Given the description of an element on the screen output the (x, y) to click on. 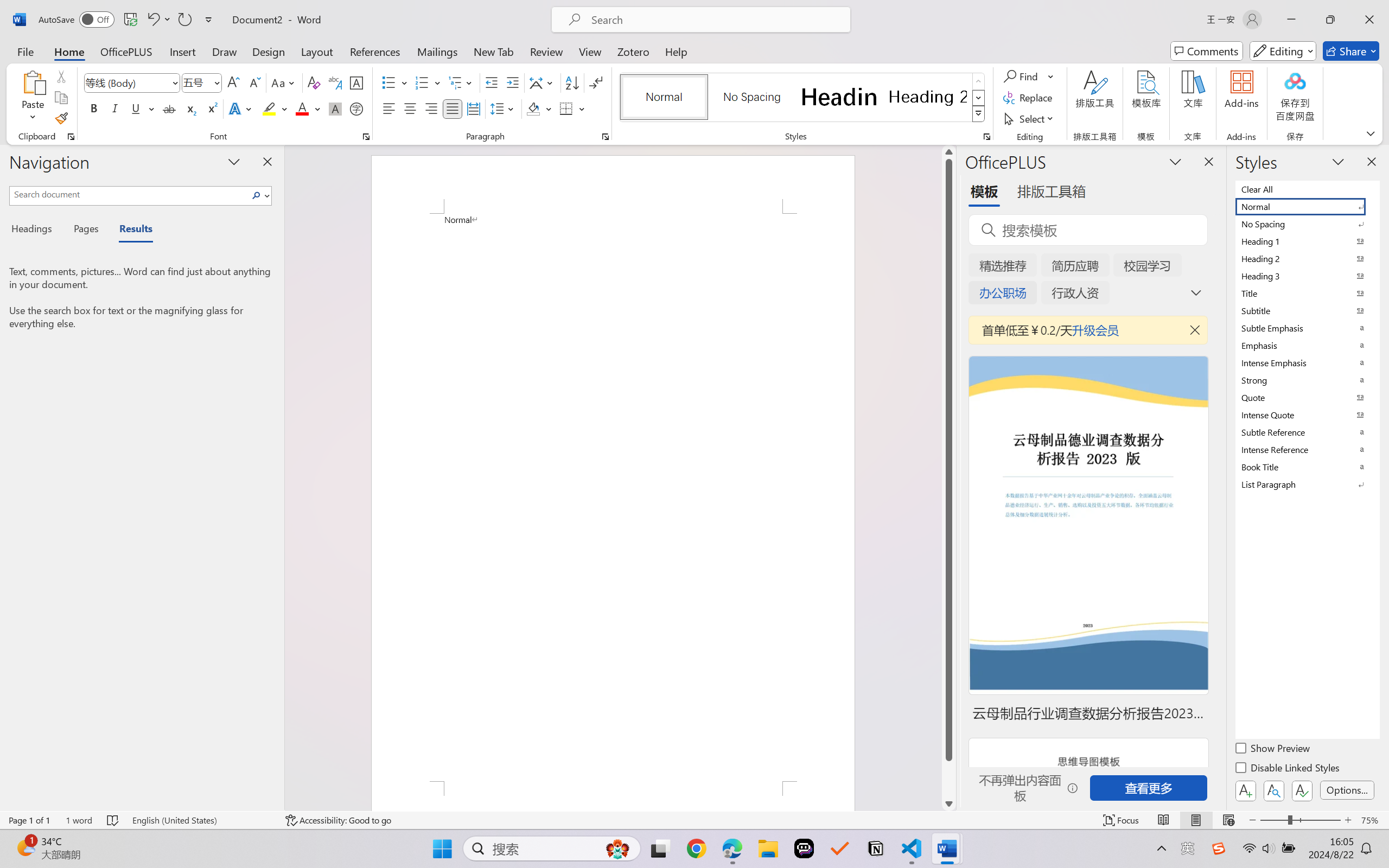
Draw (224, 51)
Mailings (437, 51)
Open (215, 82)
Line and Paragraph Spacing (503, 108)
Quote (1306, 397)
Text Highlight Color Yellow (269, 108)
Intense Emphasis (1306, 362)
Replace... (1029, 97)
Pages (85, 229)
Character Shading (334, 108)
List Paragraph (1306, 484)
Microsoft search (715, 19)
Underline (135, 108)
Zoom In (1348, 819)
